Given the description of an element on the screen output the (x, y) to click on. 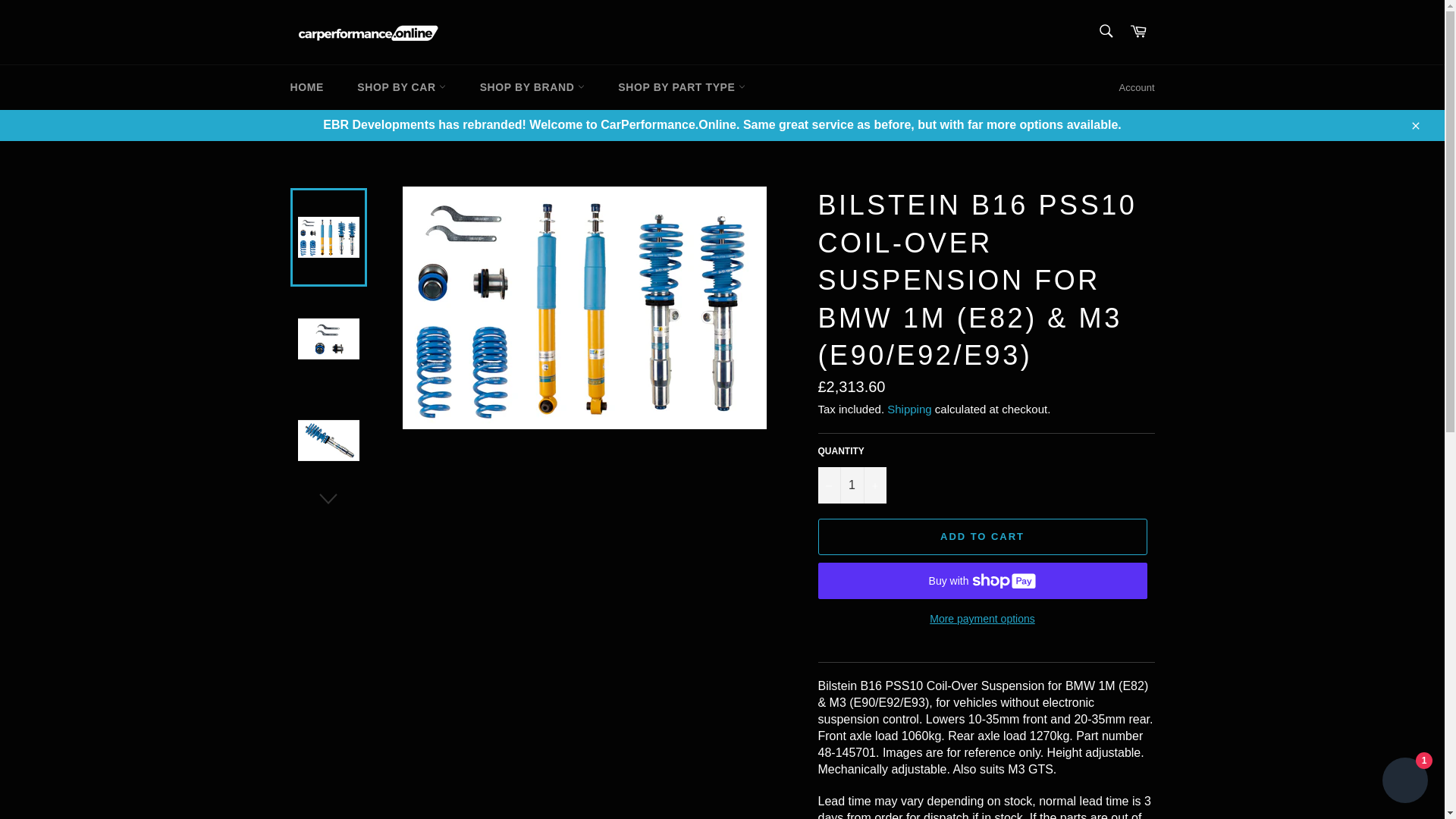
1 (850, 484)
Shopify online store chat (1404, 781)
